Given the description of an element on the screen output the (x, y) to click on. 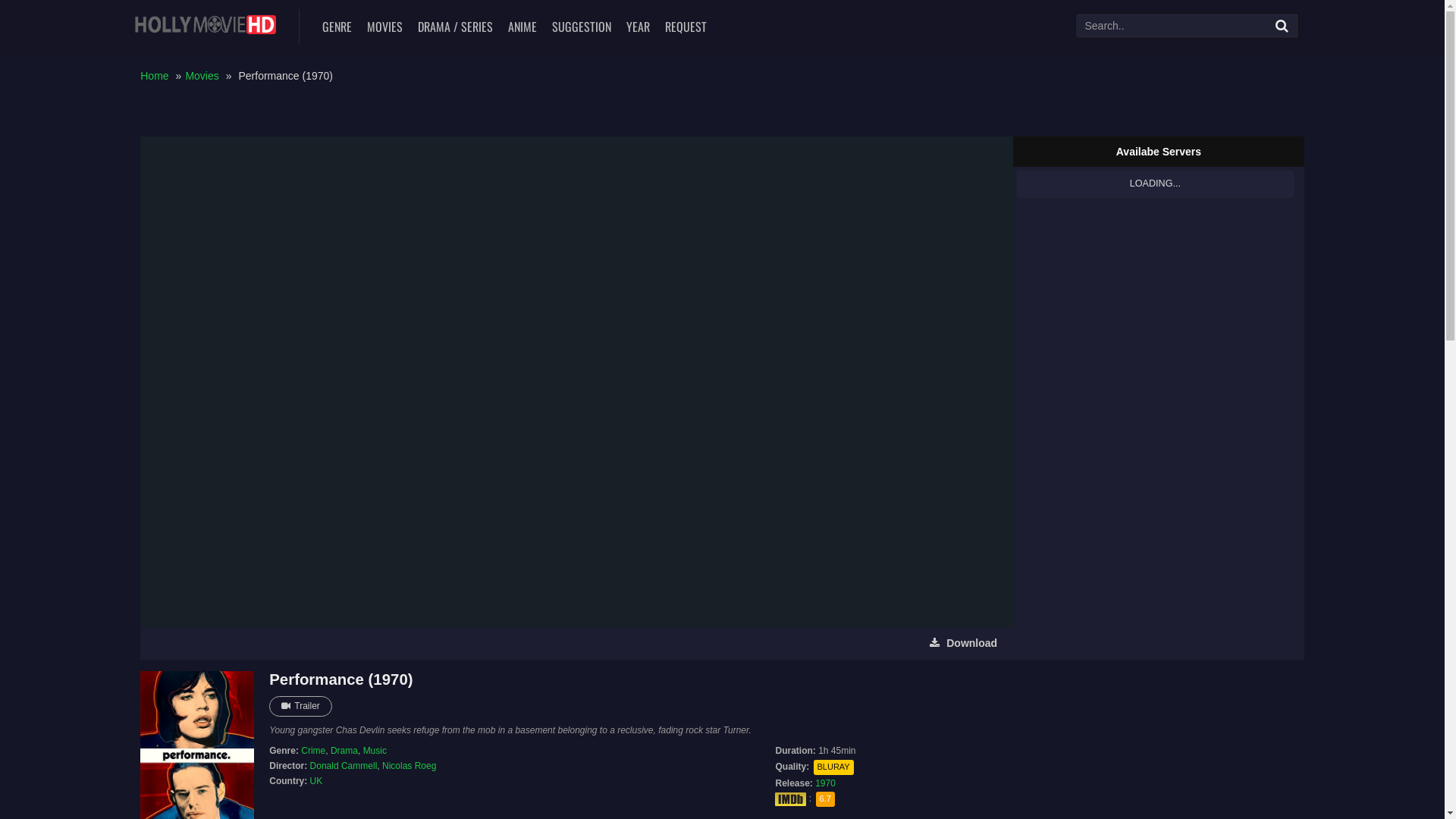
SUGGESTION Element type: text (580, 26)
Trailer Element type: text (300, 706)
Home Element type: text (154, 75)
Movies Element type: text (201, 75)
Nicolas Roeg Element type: text (409, 765)
YEAR Element type: text (636, 26)
Drama Element type: text (343, 750)
ANIME Element type: text (521, 26)
UK Element type: text (316, 780)
GENRE Element type: text (336, 26)
REQUEST Element type: text (685, 26)
IMDb Rating Element type: hover (790, 798)
Crime Element type: text (313, 750)
HollyMovieHD Element type: hover (205, 24)
Download Element type: text (963, 642)
1970 Element type: text (825, 783)
MOVIES Element type: text (383, 26)
Donald Cammell Element type: text (343, 765)
DRAMA / SERIES Element type: text (455, 26)
Music Element type: text (374, 750)
